Given the description of an element on the screen output the (x, y) to click on. 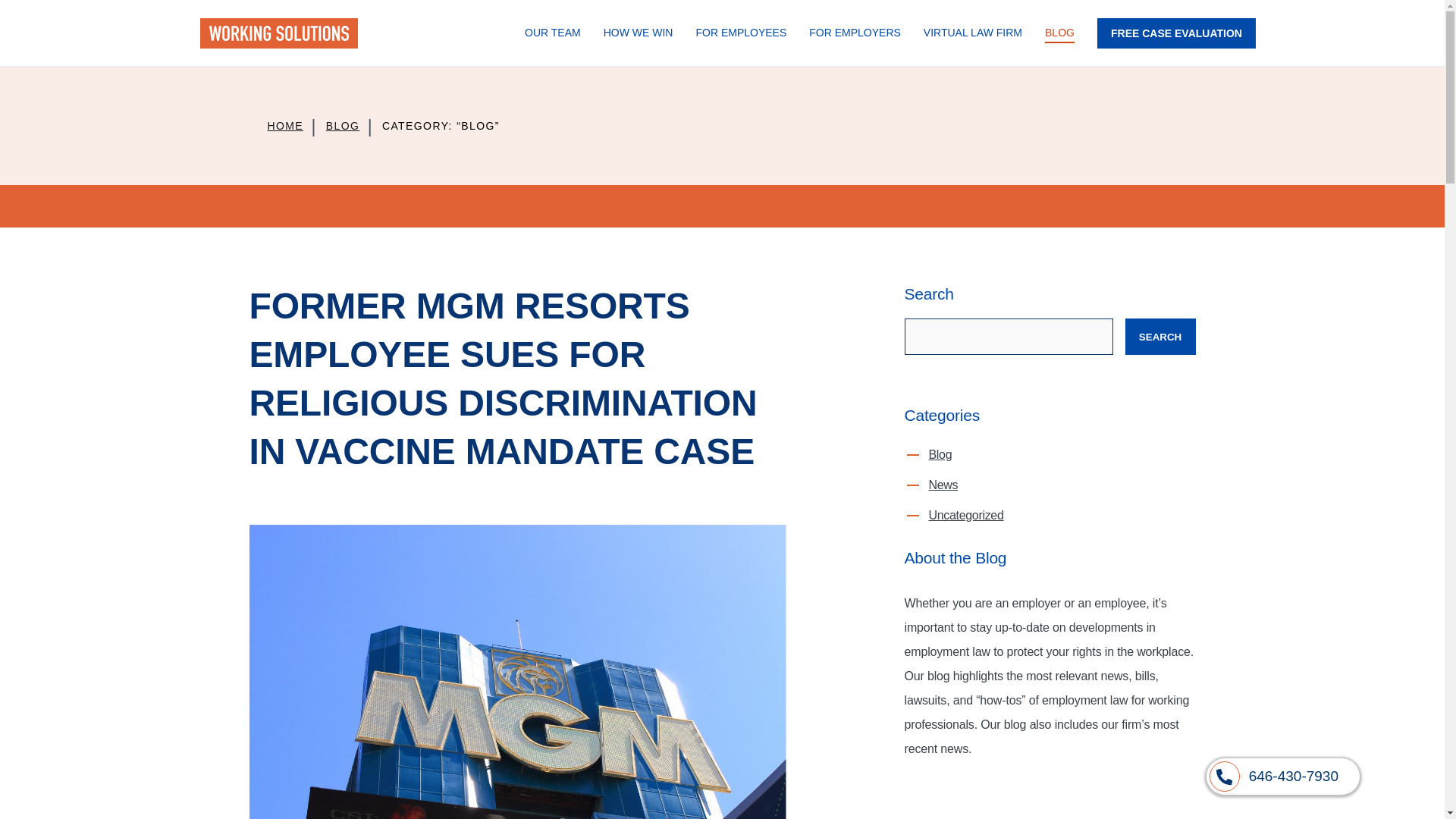
OUR TEAM (552, 33)
FREE CASE EVALUATION (1176, 33)
VIRTUAL LAW FIRM (972, 33)
FOR EMPLOYERS (854, 33)
HOME (284, 125)
HOW WE WIN (638, 33)
BLOG (342, 125)
FOR EMPLOYEES (740, 33)
